Given the description of an element on the screen output the (x, y) to click on. 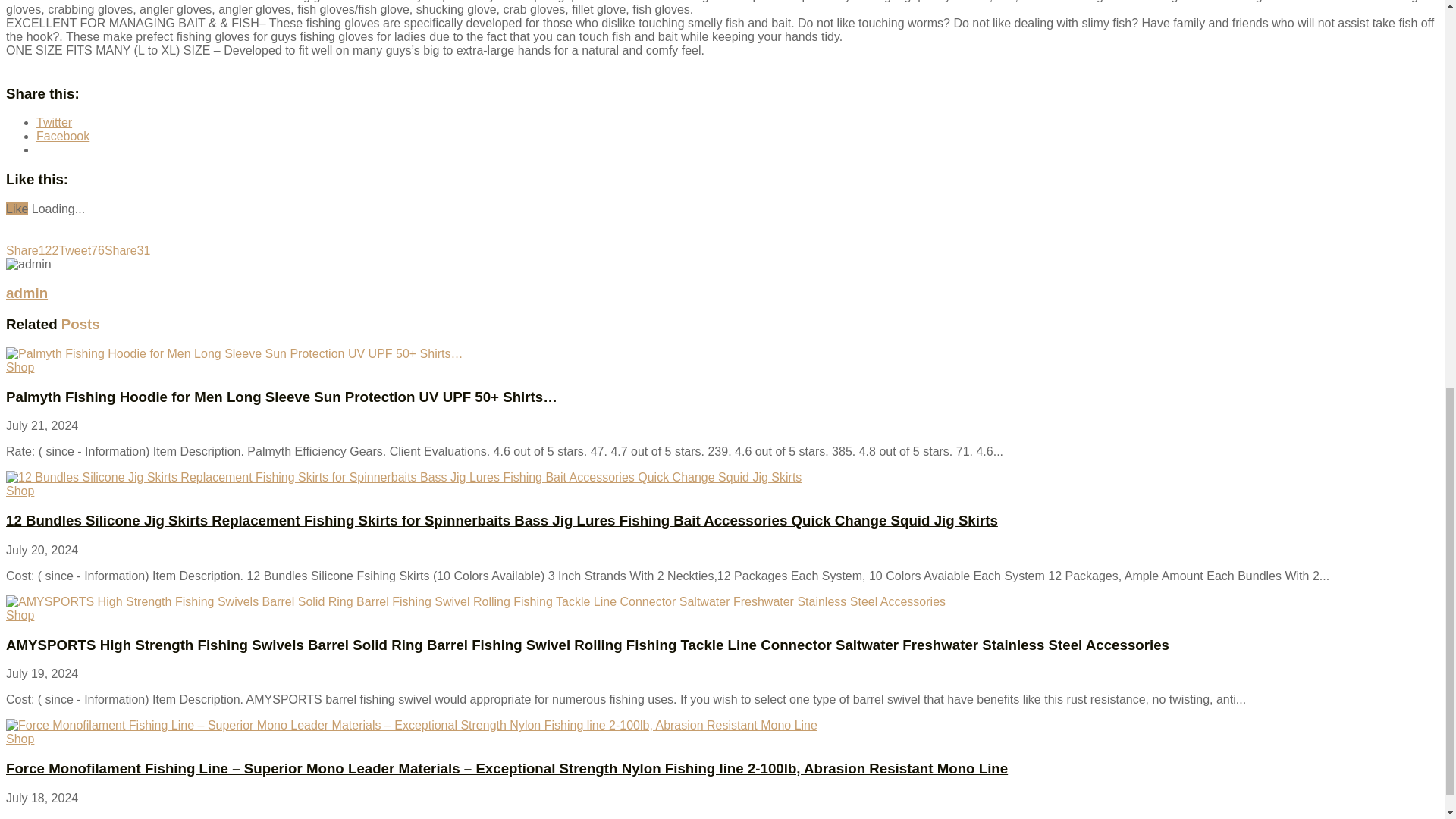
Share31 (127, 250)
Share122 (31, 250)
Shop (19, 490)
Facebook (62, 135)
Twitter (53, 122)
Click to share on Facebook (62, 135)
Click to share on Twitter (53, 122)
Tweet76 (80, 250)
Shop (19, 367)
admin (26, 293)
